Given the description of an element on the screen output the (x, y) to click on. 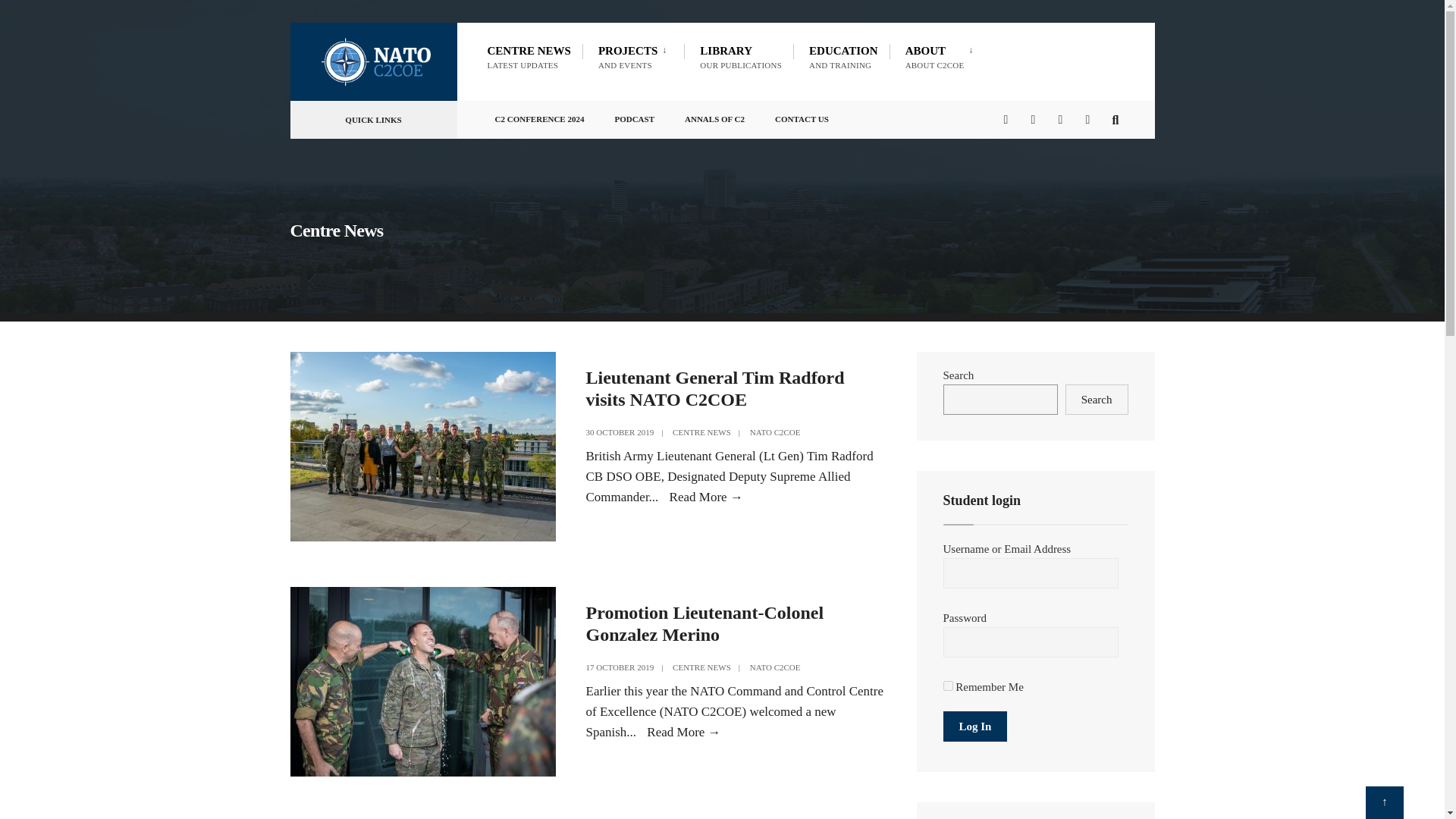
CENTRE NEWS (740, 56)
Scroll to top (701, 431)
NATO C2COE (1384, 802)
C2 CONFERENCE 2024 (942, 56)
CENTRE NEWS (774, 666)
Skip to content (539, 115)
Promotion Lieutenant-Colonel Gonzalez Merino (701, 666)
